Given the description of an element on the screen output the (x, y) to click on. 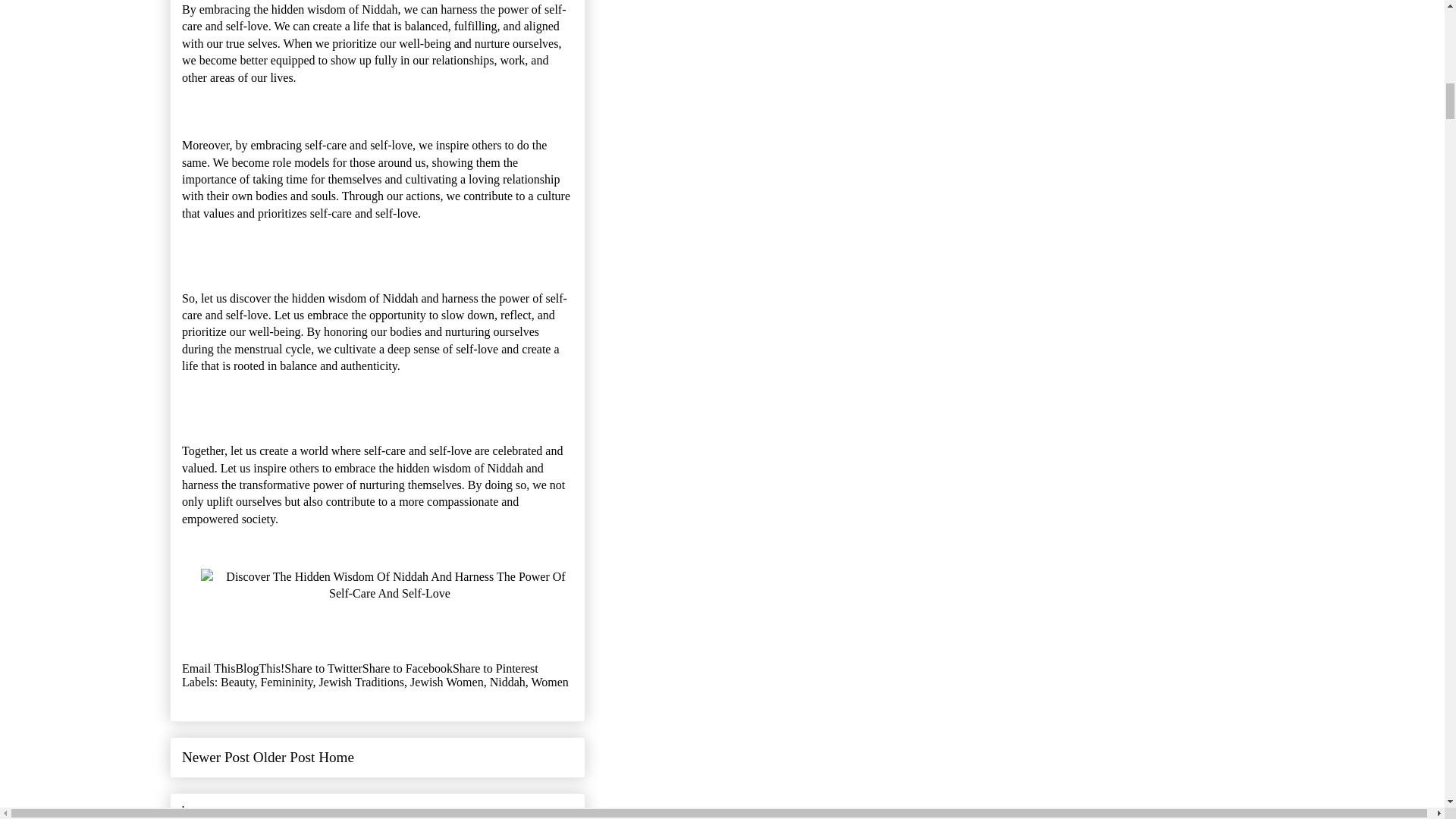
Jewish Traditions (361, 680)
Beauty (237, 680)
Share to Facebook (407, 667)
BlogThis! (258, 667)
Share to Pinterest (495, 667)
Jewish Women (446, 680)
Share to Twitter (322, 667)
Femininity (286, 680)
Home (335, 756)
Share to Facebook (407, 667)
Newer Post (215, 756)
Niddah (507, 680)
Women (549, 680)
Share to Twitter (322, 667)
